Given the description of an element on the screen output the (x, y) to click on. 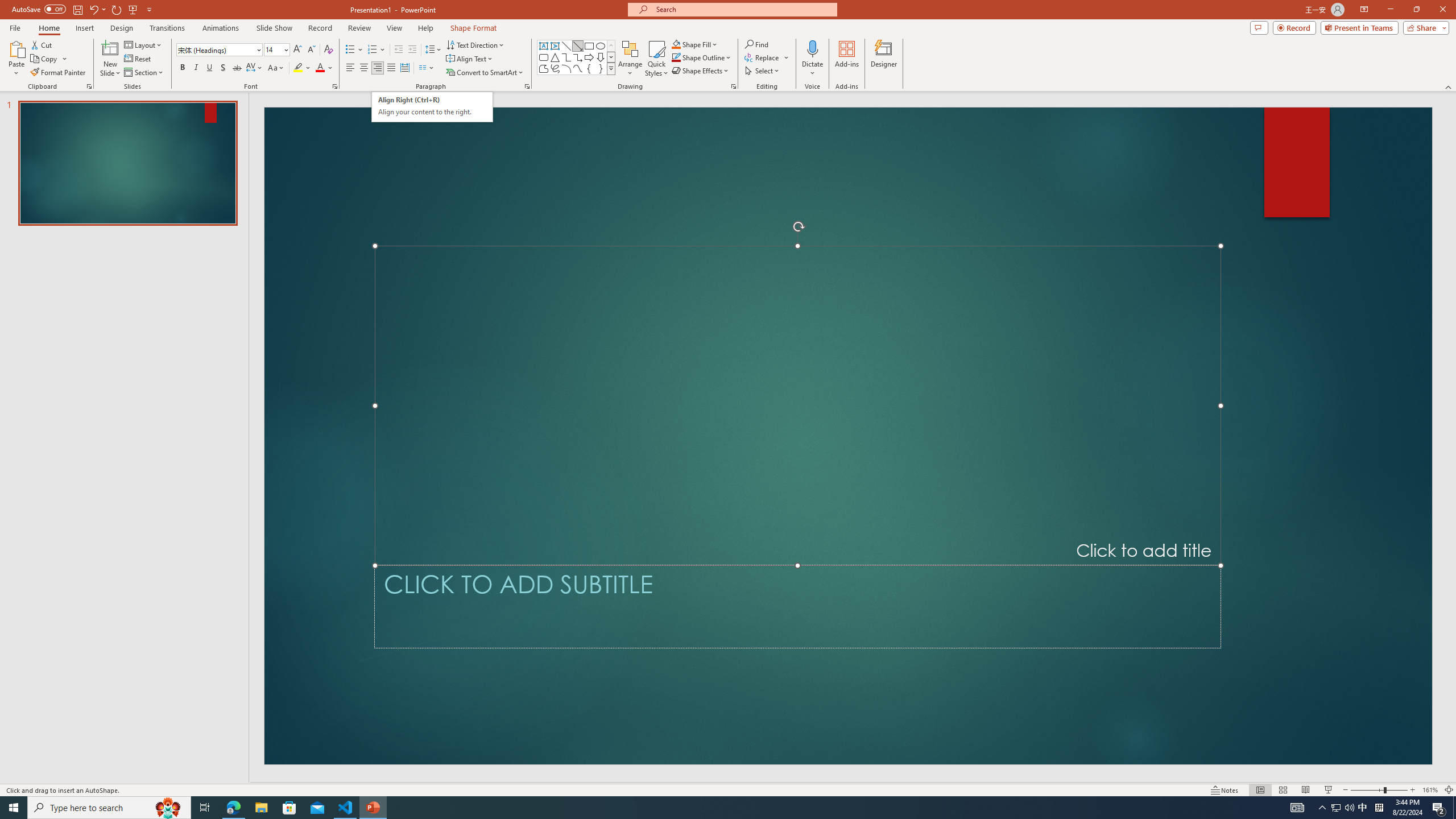
Zoom 161% (1430, 790)
